Given the description of an element on the screen output the (x, y) to click on. 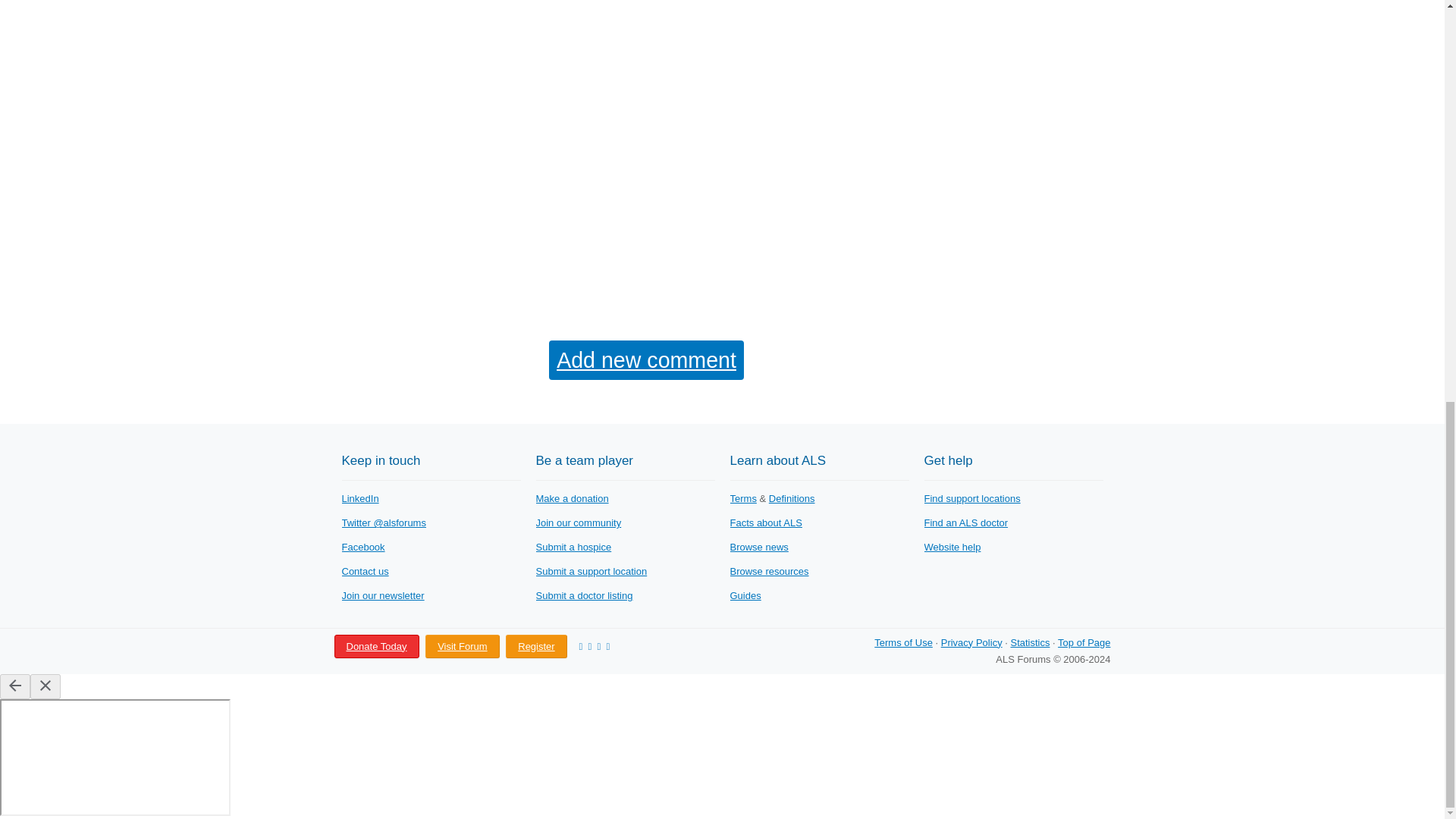
Contact us (364, 571)
Facebook (362, 546)
Share your thoughts and opinions related to this posting. (646, 360)
Join our newsletter (381, 595)
LinkedIn (359, 498)
Our Facebook (362, 546)
Our Twitter (382, 522)
Add new comment (646, 360)
Add hospice (573, 546)
